Given the description of an element on the screen output the (x, y) to click on. 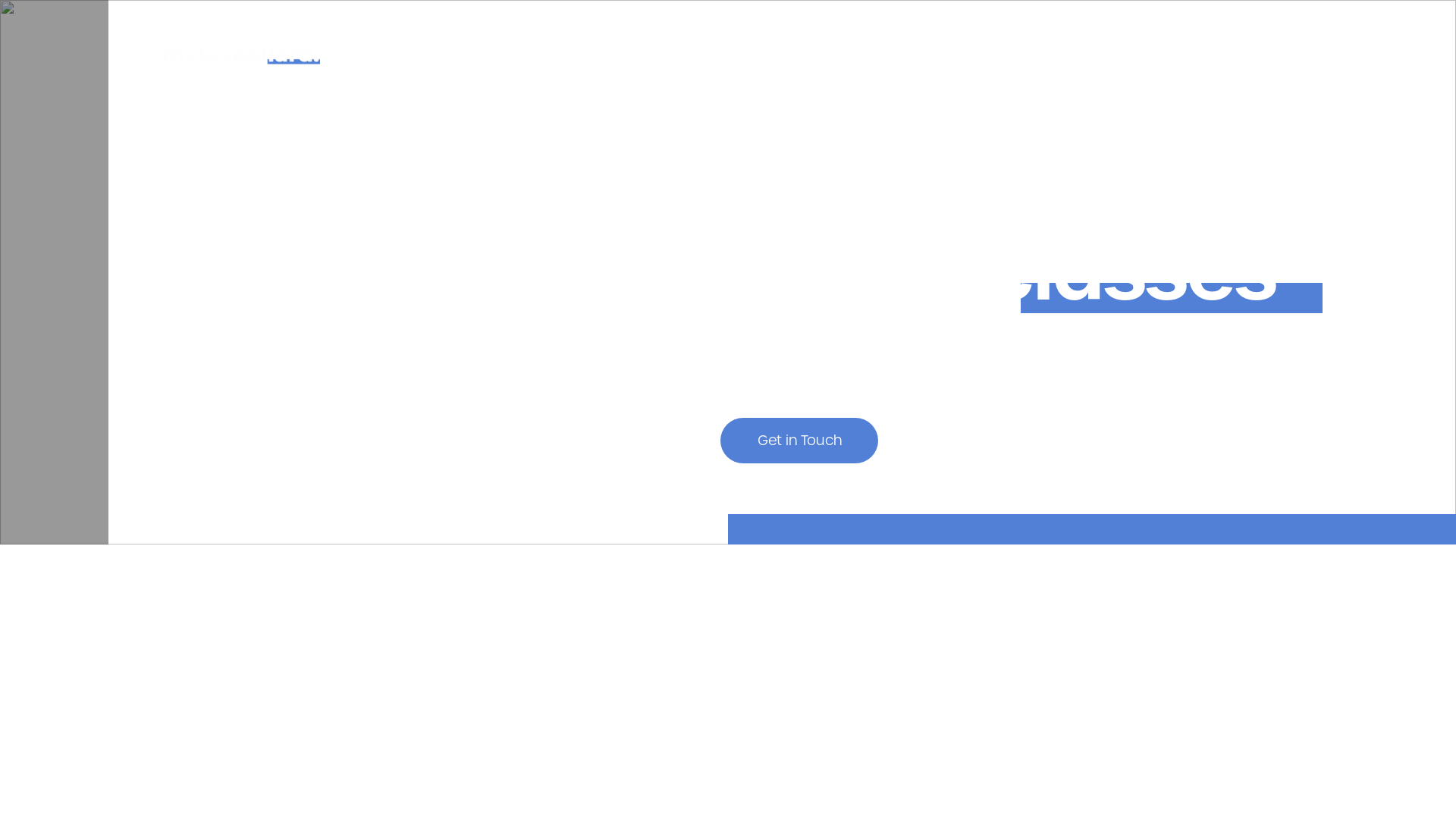
Get in Touch Element type: text (799, 440)
Work Element type: text (564, 56)
Communication Training Element type: text (872, 56)
Home Element type: text (487, 56)
GET IN TOUCH Element type: text (1212, 55)
Acting Workshops Element type: text (684, 56)
